Given the description of an element on the screen output the (x, y) to click on. 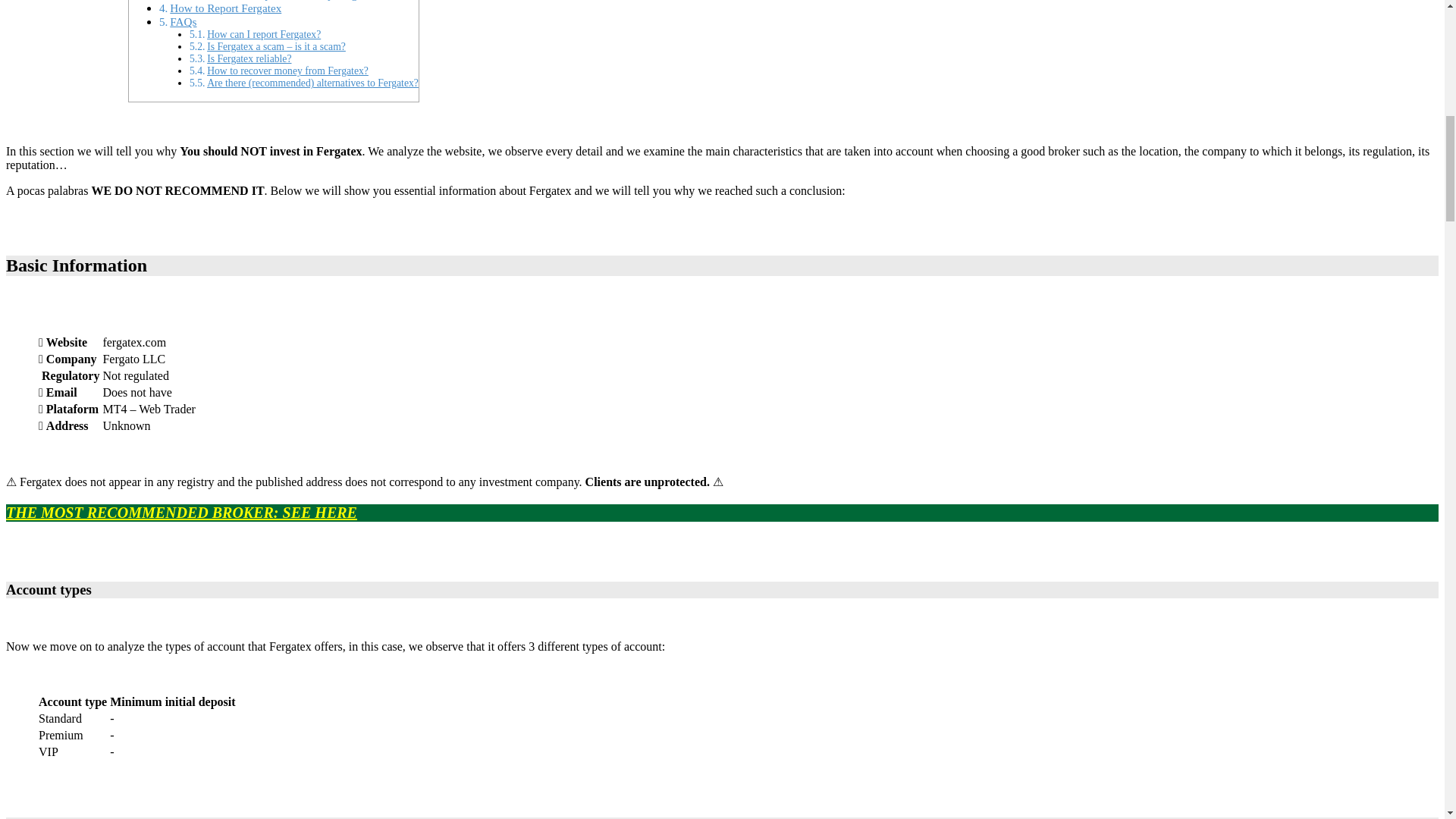
How to Report Fergatex (225, 7)
THE MOST RECOMMENDED BROKER: SEE HERE (180, 512)
FAQs (183, 21)
How to Report Fergatex (225, 7)
Is Fergatex reliable? (248, 58)
FAQs (183, 21)
How can I report Fergatex? (263, 34)
How can I report Fergatex? (263, 34)
How to recover money from Fergatex? (287, 70)
